Given the description of an element on the screen output the (x, y) to click on. 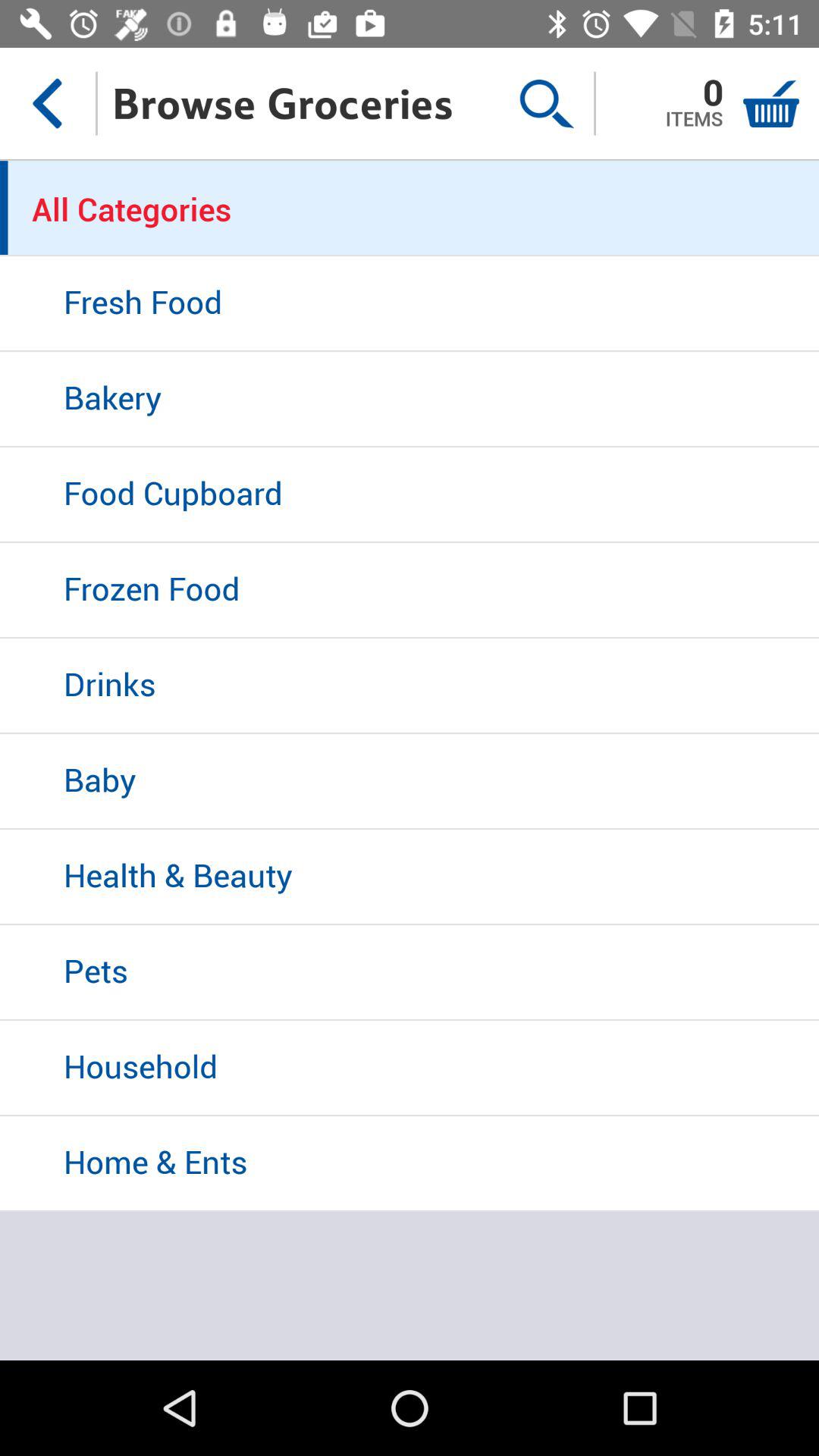
swipe until food cupboard item (409, 495)
